Given the description of an element on the screen output the (x, y) to click on. 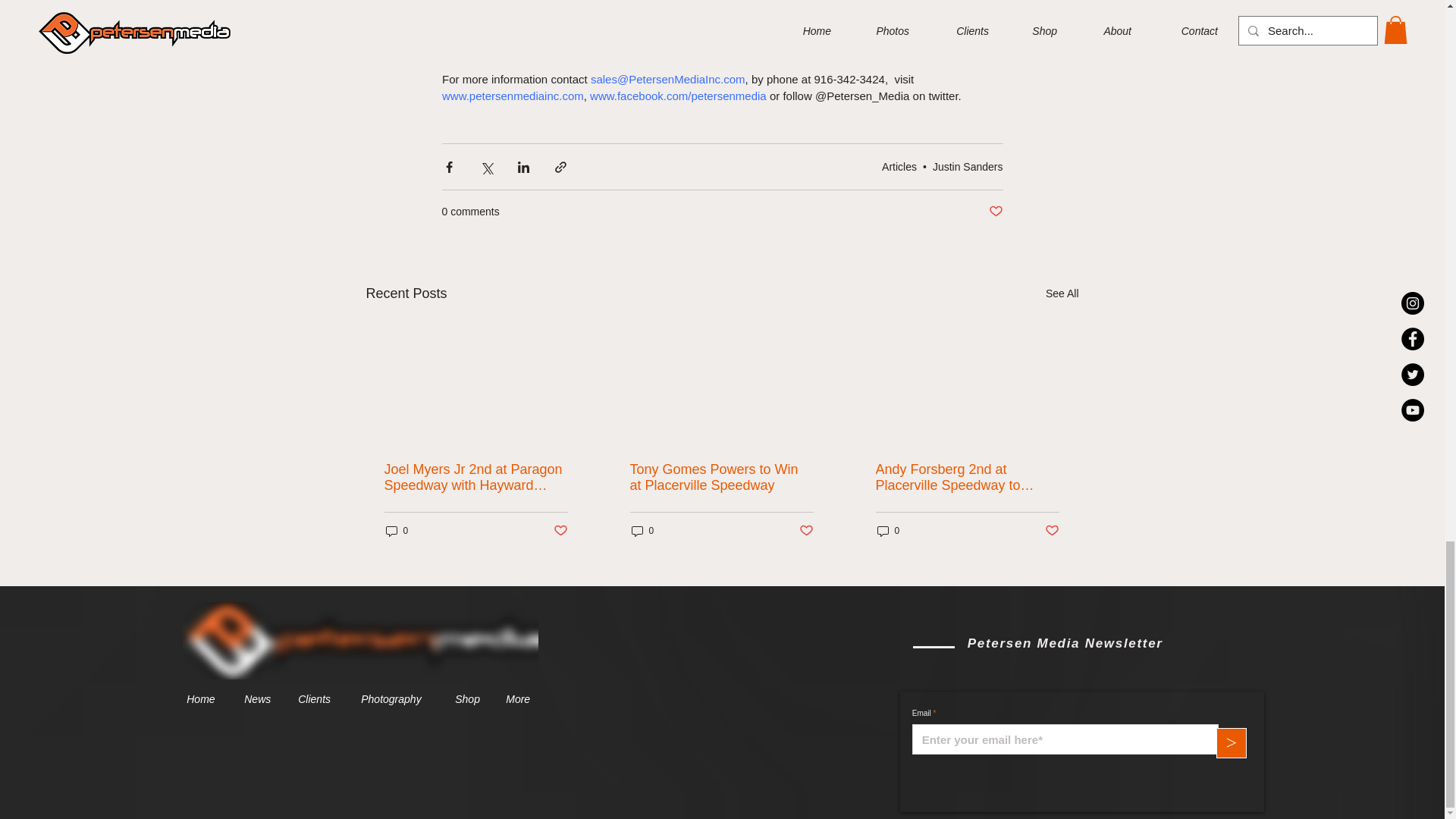
Tony Gomes Powers to Win at Placerville Speedway (720, 477)
Post not marked as liked (995, 211)
Articles (899, 166)
Justin Sanders (968, 166)
Post not marked as liked (1052, 530)
See All (1061, 293)
www.petersenmediainc.com (512, 96)
0 (888, 531)
Post not marked as liked (806, 530)
Post not marked as liked (560, 530)
0 (396, 531)
0 (641, 531)
